Given the description of an element on the screen output the (x, y) to click on. 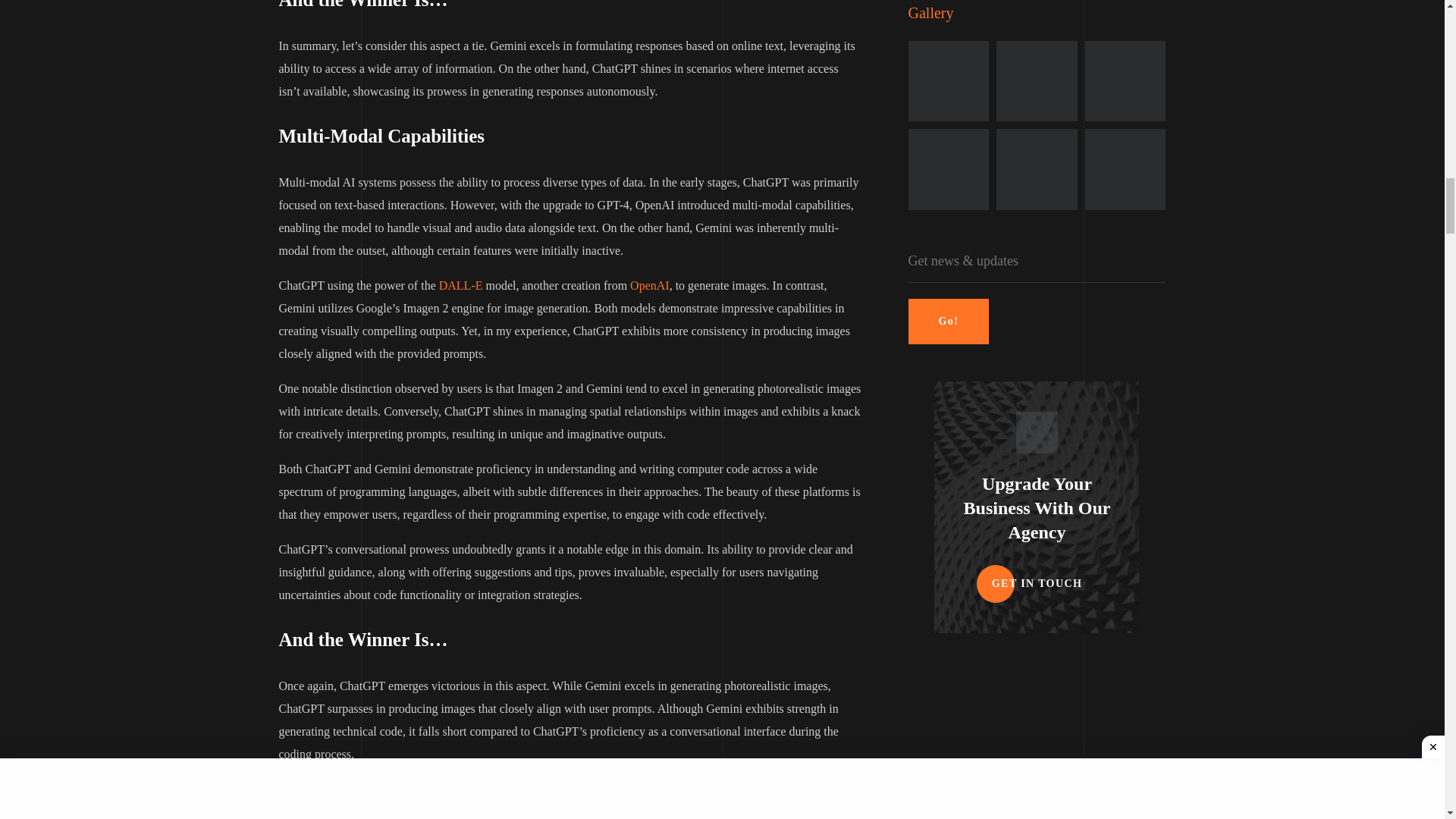
Go! (949, 320)
